Given the description of an element on the screen output the (x, y) to click on. 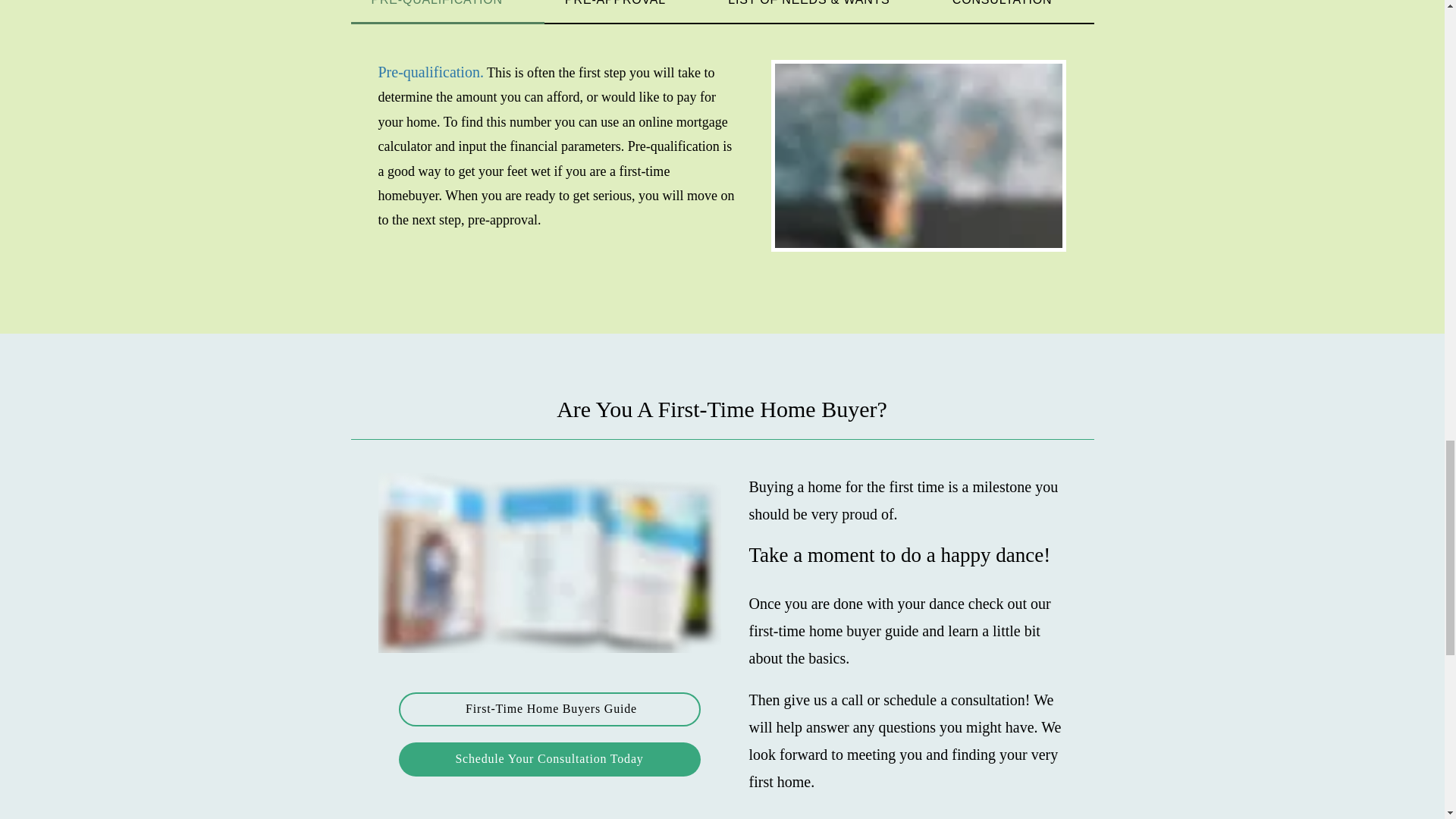
First-Time Home Buyers Guide (549, 709)
Schedule Your Consultation Today (549, 759)
